Given the description of an element on the screen output the (x, y) to click on. 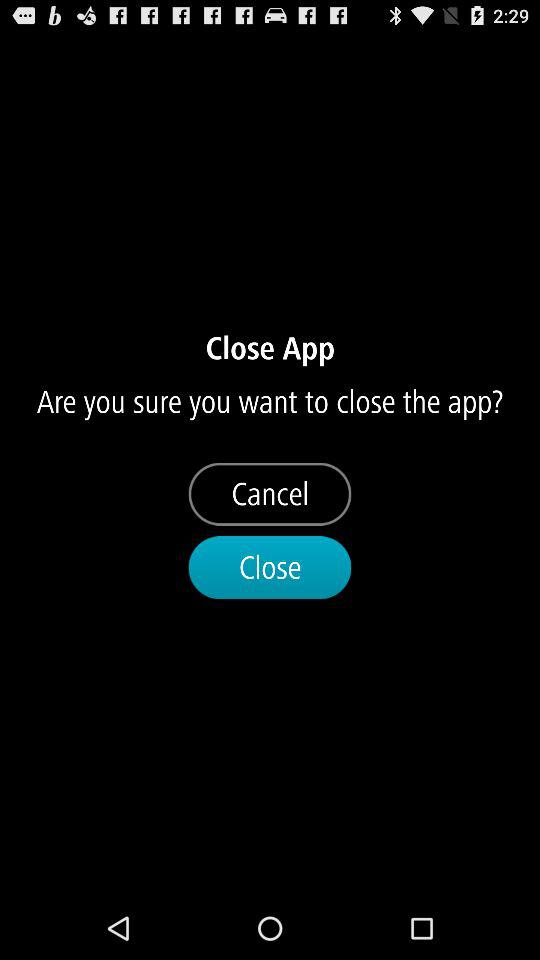
flip until cancel item (269, 493)
